Given the description of an element on the screen output the (x, y) to click on. 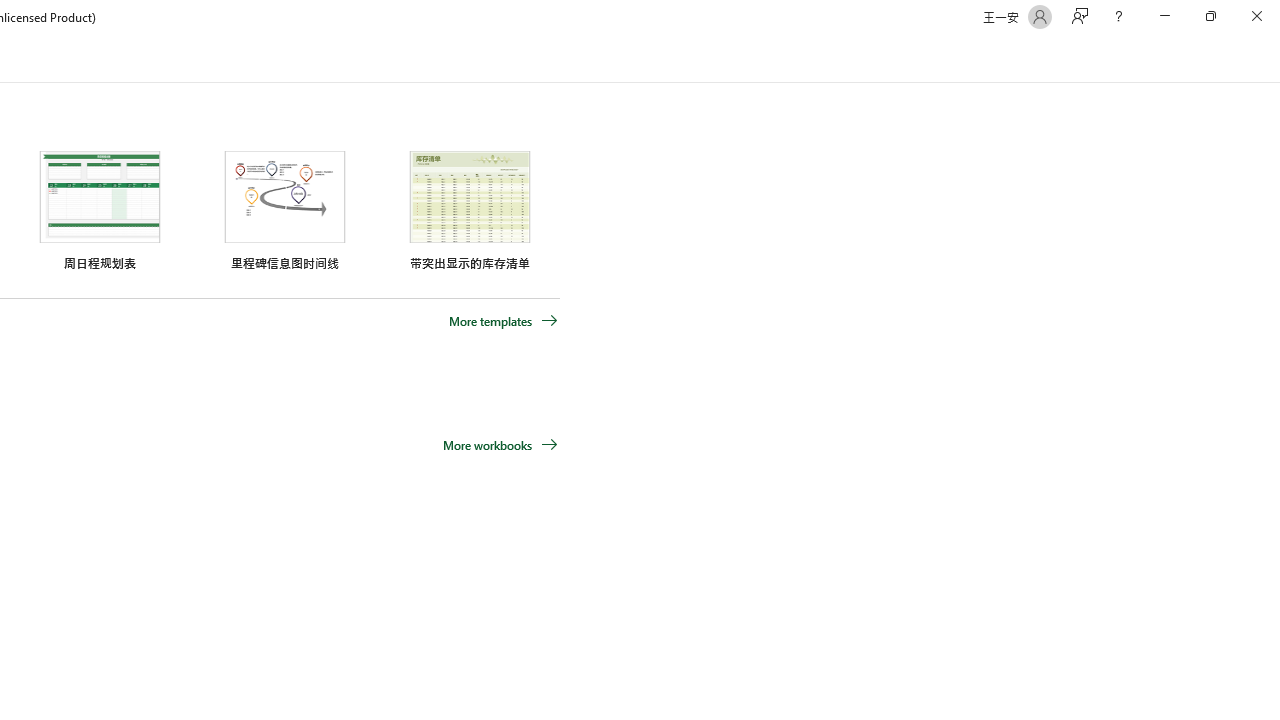
More templates (503, 321)
More workbooks (500, 444)
